Given the description of an element on the screen output the (x, y) to click on. 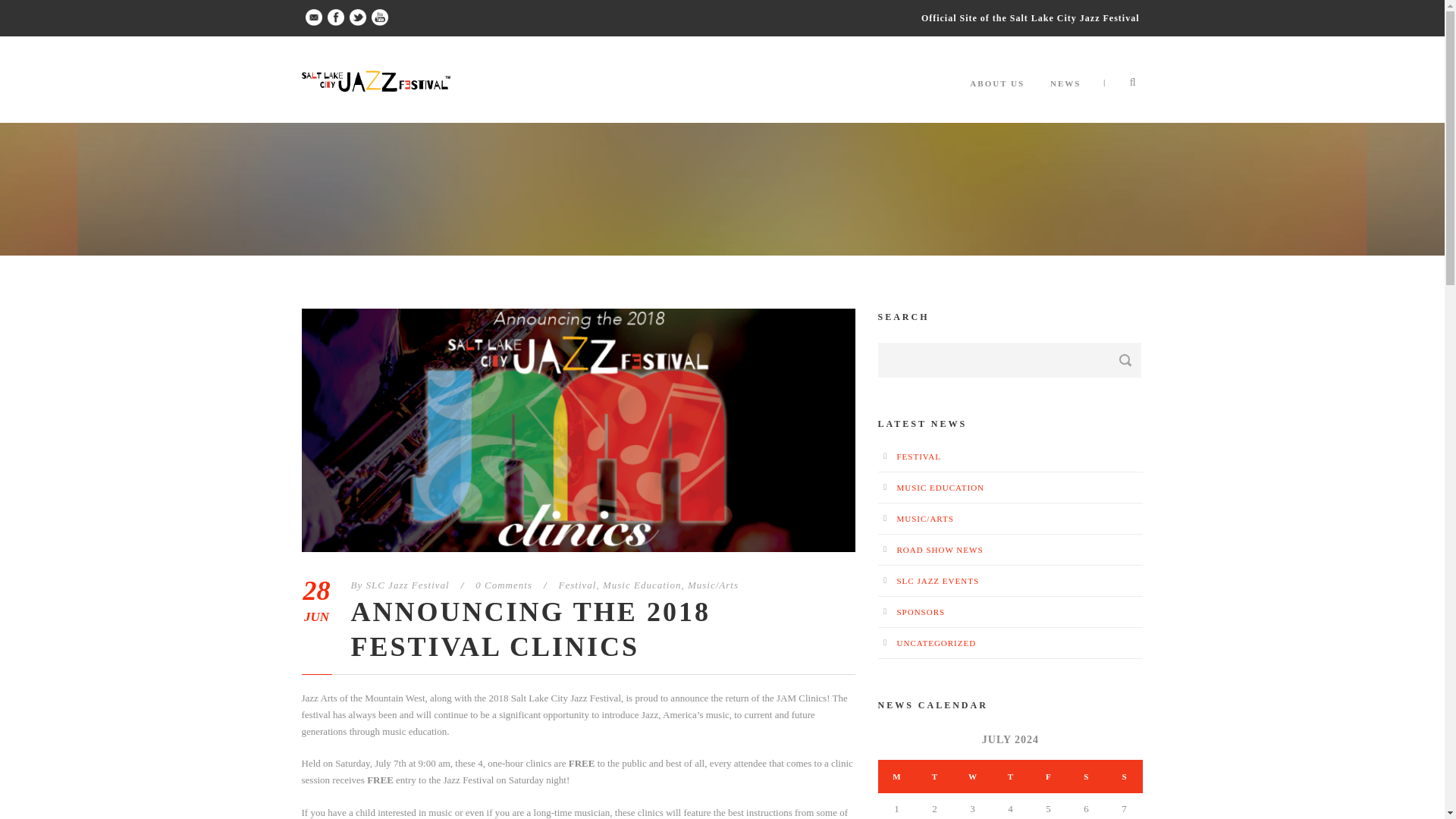
Posts by SLC Jazz Festival (406, 584)
ABOUT US (997, 97)
SLC Jazz Festival (406, 584)
Friday (1048, 776)
Sunday (1123, 776)
Festival (577, 584)
Thursday (1010, 776)
Monday (896, 776)
Tuesday (934, 776)
Saturday (1086, 776)
Wednesday (972, 776)
NEWS (1064, 97)
Music Education (641, 584)
0 Comments (504, 584)
